Given the description of an element on the screen output the (x, y) to click on. 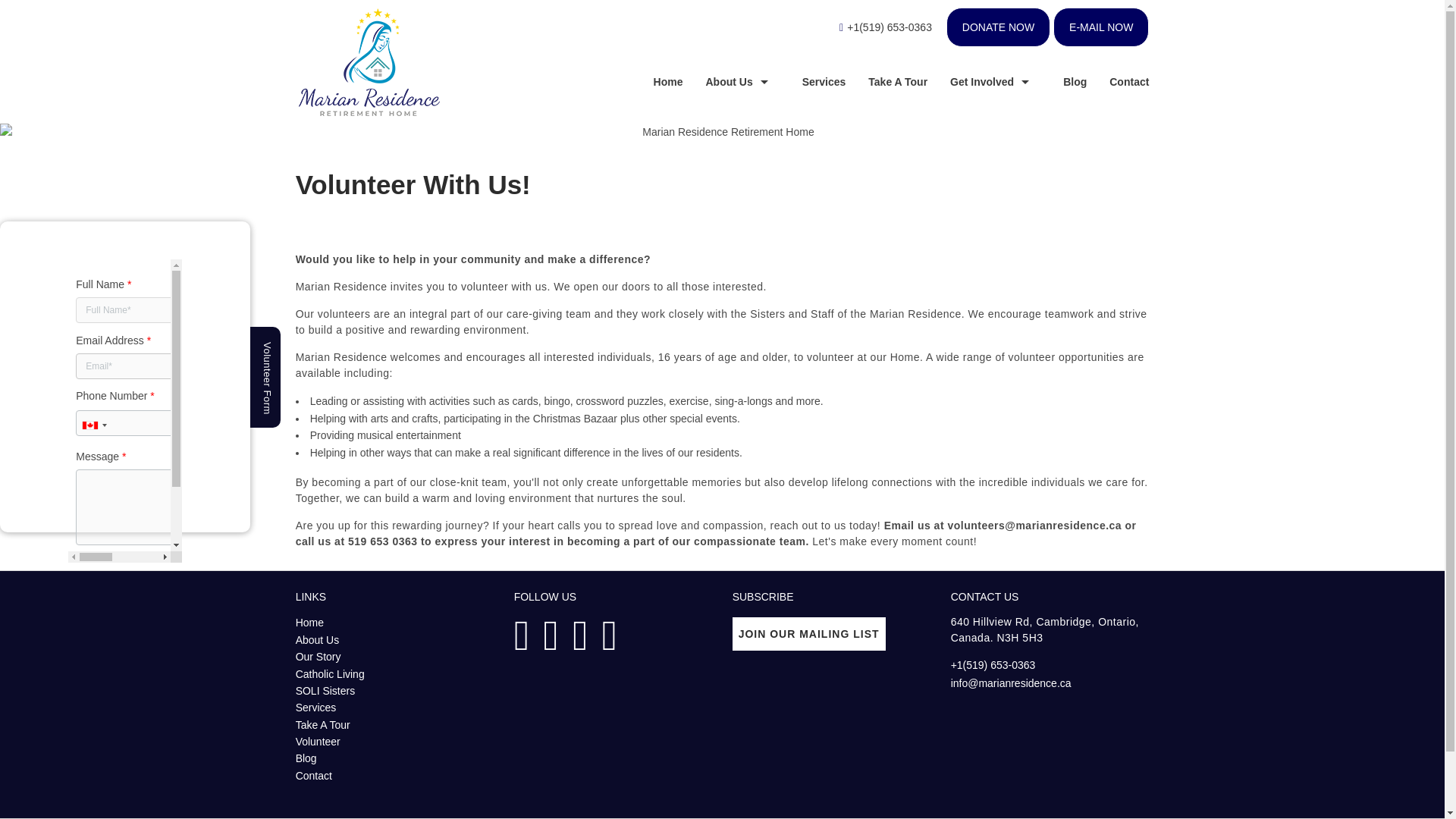
Services (811, 81)
Submit (117, 584)
Blog (1063, 81)
DONATE NOW (997, 26)
Catholic Living (330, 674)
Get Involved (984, 81)
Volunteer (317, 741)
About Us (317, 639)
Our Story (317, 656)
Submit (117, 584)
